Given the description of an element on the screen output the (x, y) to click on. 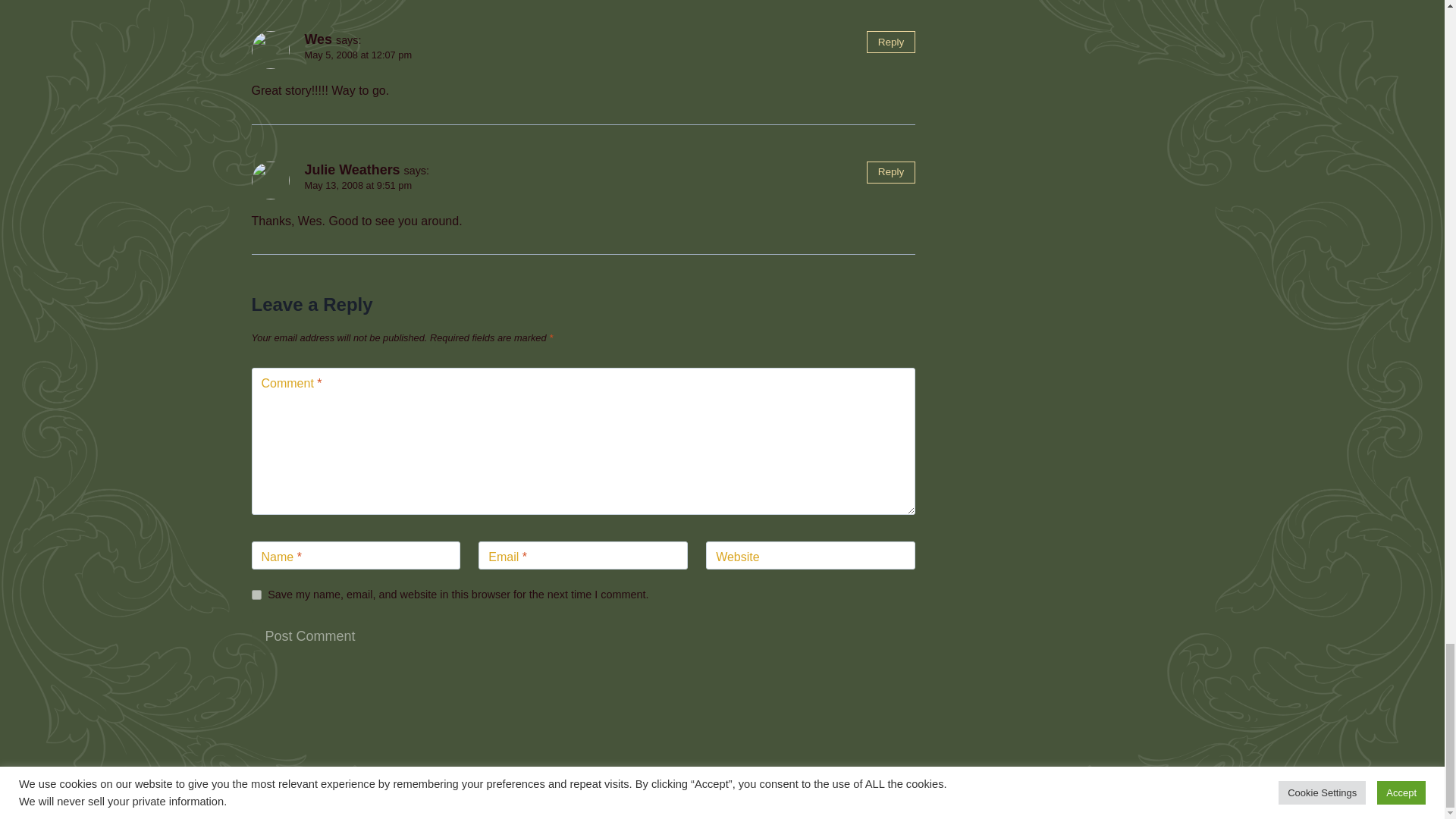
Post Comment (310, 635)
yes (256, 594)
